Given the description of an element on the screen output the (x, y) to click on. 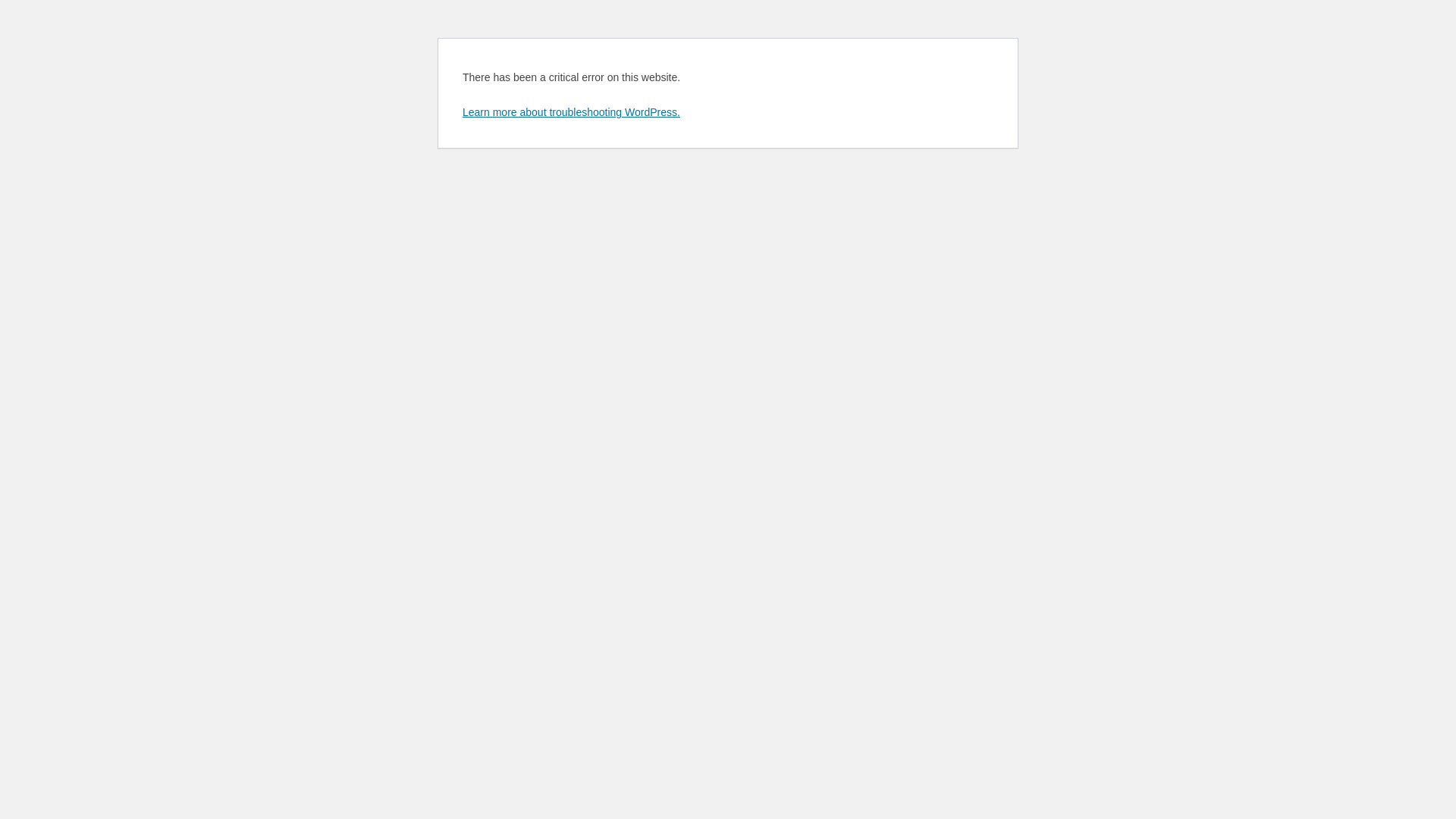
Learn more about troubleshooting WordPress. Element type: text (571, 112)
